Given the description of an element on the screen output the (x, y) to click on. 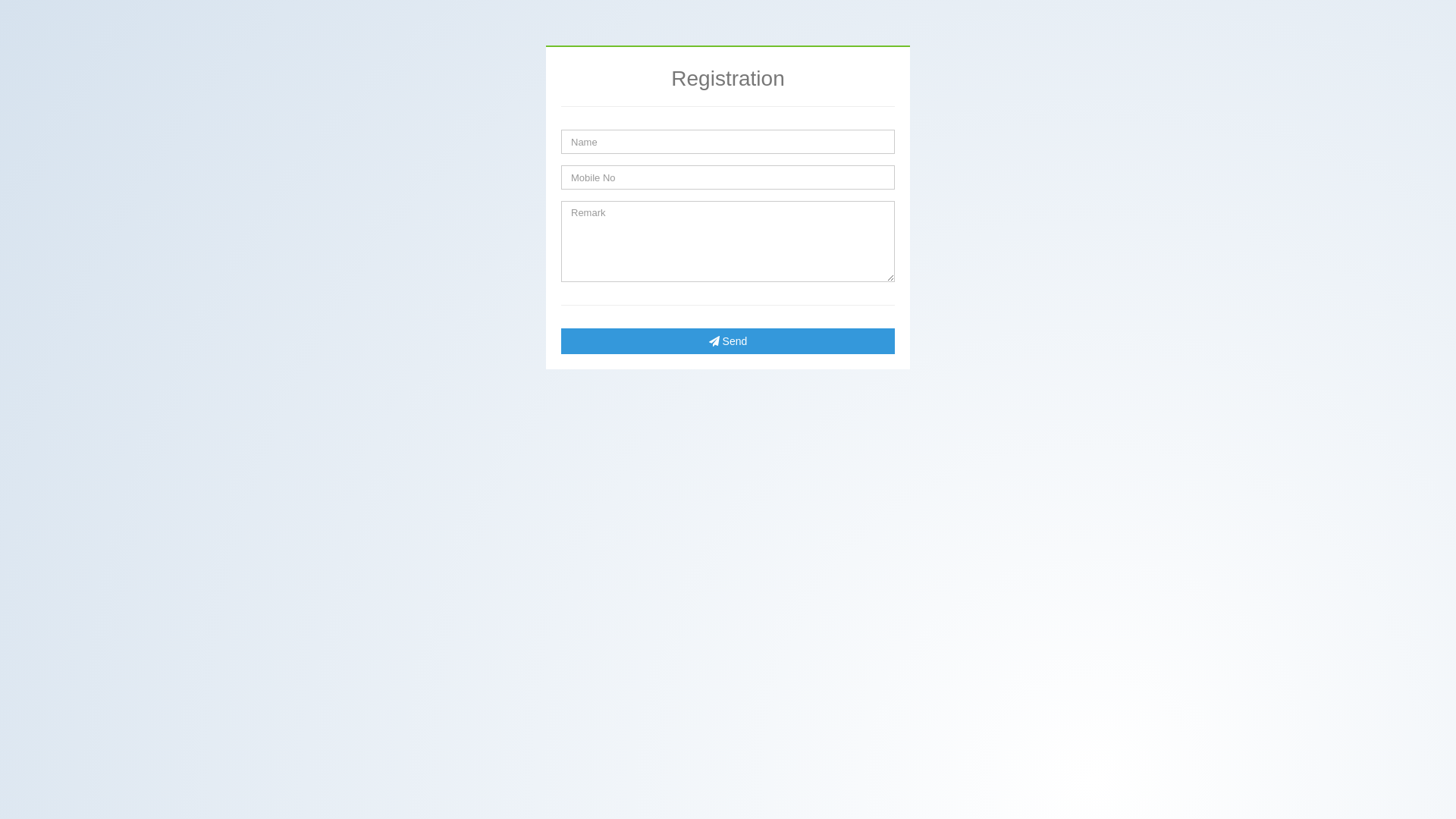
Send Element type: text (727, 341)
